Given the description of an element on the screen output the (x, y) to click on. 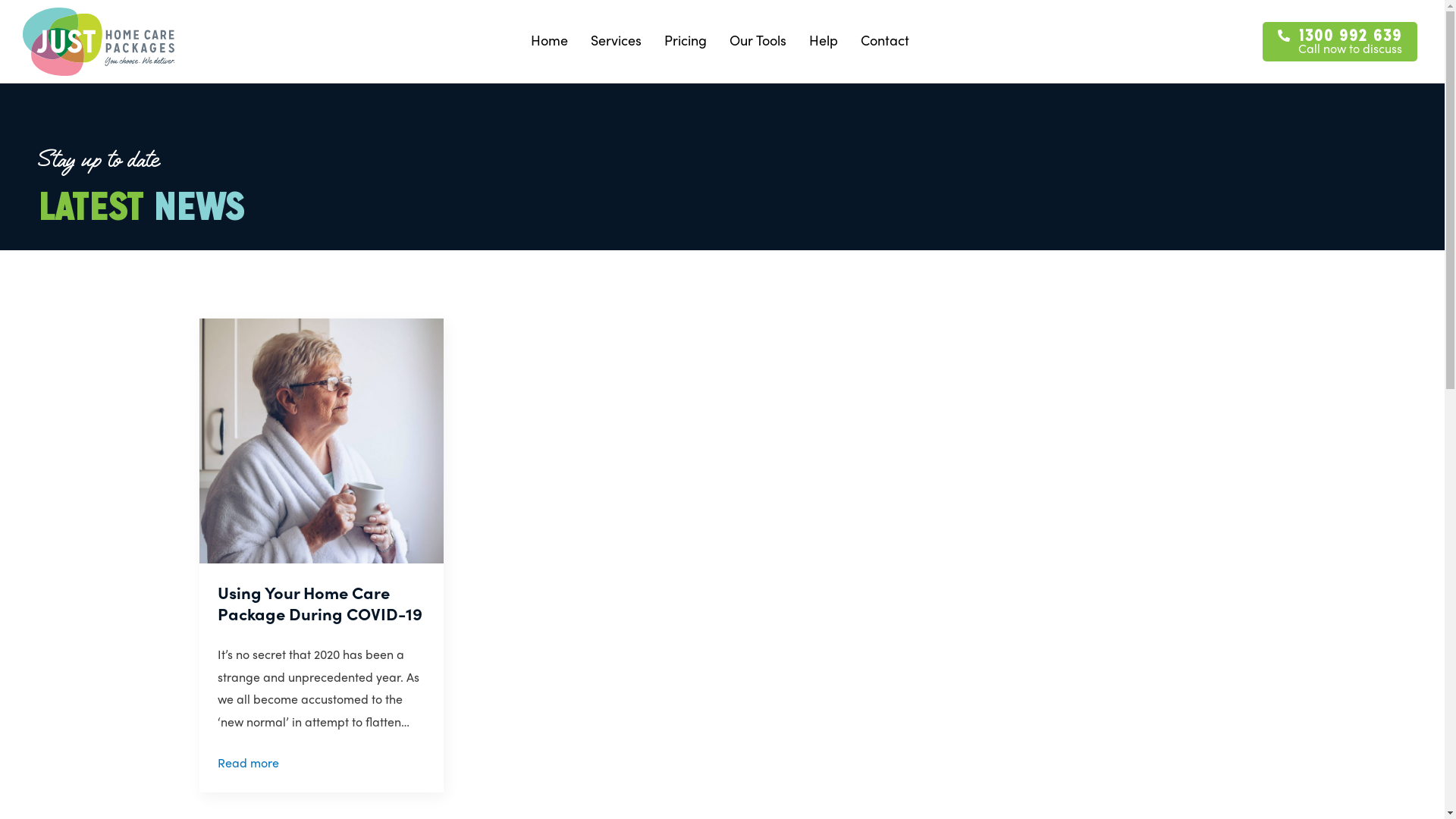
Home Element type: text (549, 39)
Help Element type: text (823, 39)
Using Your Home Care Package During COVID-19 Element type: text (320, 602)
1300 992 639
Call now to discuss Element type: text (1339, 41)
Contact Element type: text (884, 39)
Services Element type: text (615, 39)
Pricing Element type: text (685, 39)
Our Tools Element type: text (757, 39)
Read more Element type: text (247, 762)
